Given the description of an element on the screen output the (x, y) to click on. 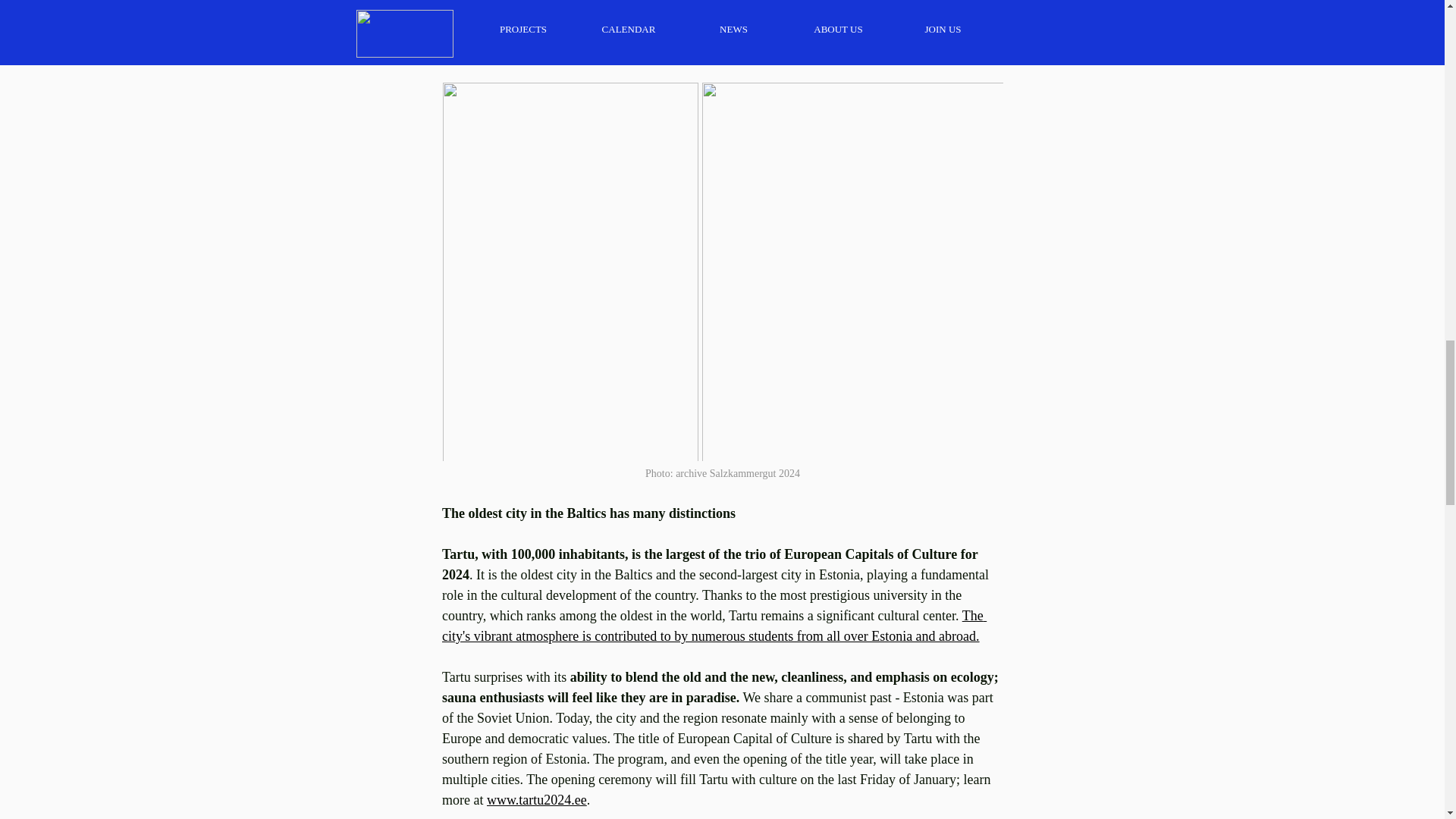
www.tartu2024.ee (536, 799)
www.salzkammergut-2024.at (748, 28)
